Given the description of an element on the screen output the (x, y) to click on. 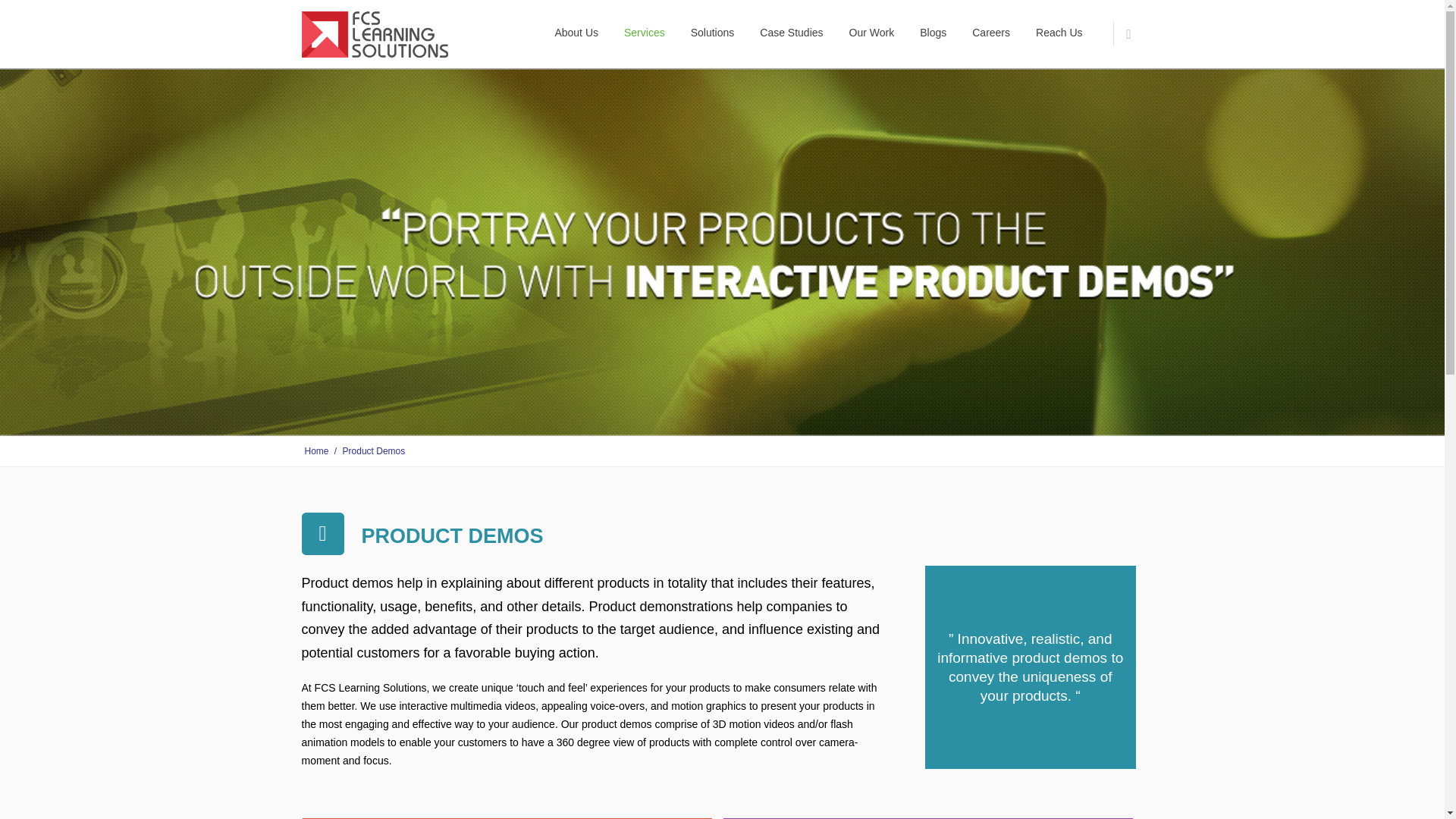
Case Studies (791, 33)
